Given the description of an element on the screen output the (x, y) to click on. 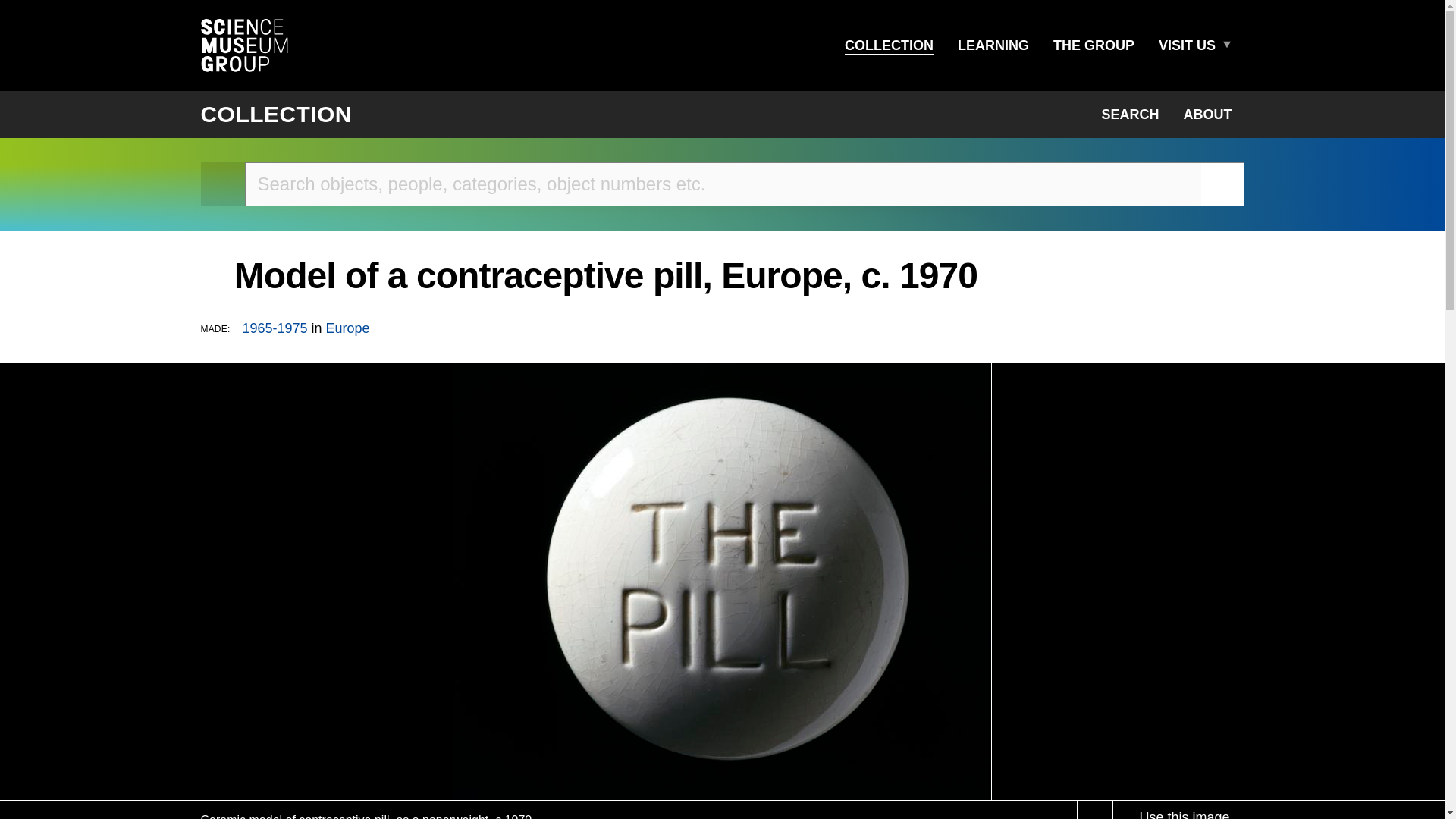
SEARCH (1129, 114)
ABOUT (1206, 114)
VISIT US (1187, 45)
1965-1975 (276, 328)
Use this image (1177, 809)
Back to the home page (222, 184)
LEARNING (992, 45)
COLLECTION (276, 113)
Toggle full page (1095, 809)
Europe (347, 328)
THE GROUP (1094, 45)
COLLECTION (888, 45)
